Given the description of an element on the screen output the (x, y) to click on. 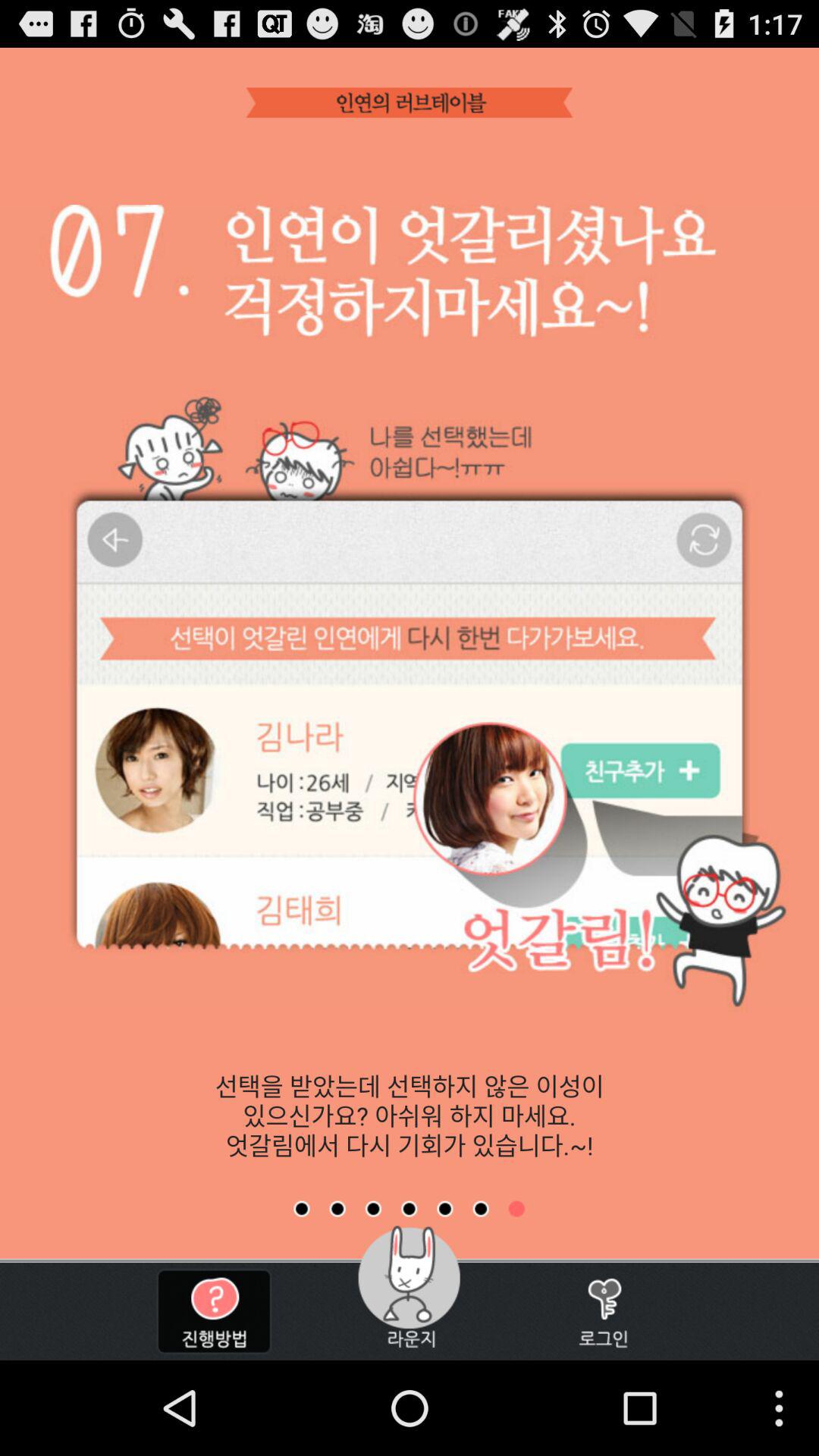
go to next (445, 1208)
